Given the description of an element on the screen output the (x, y) to click on. 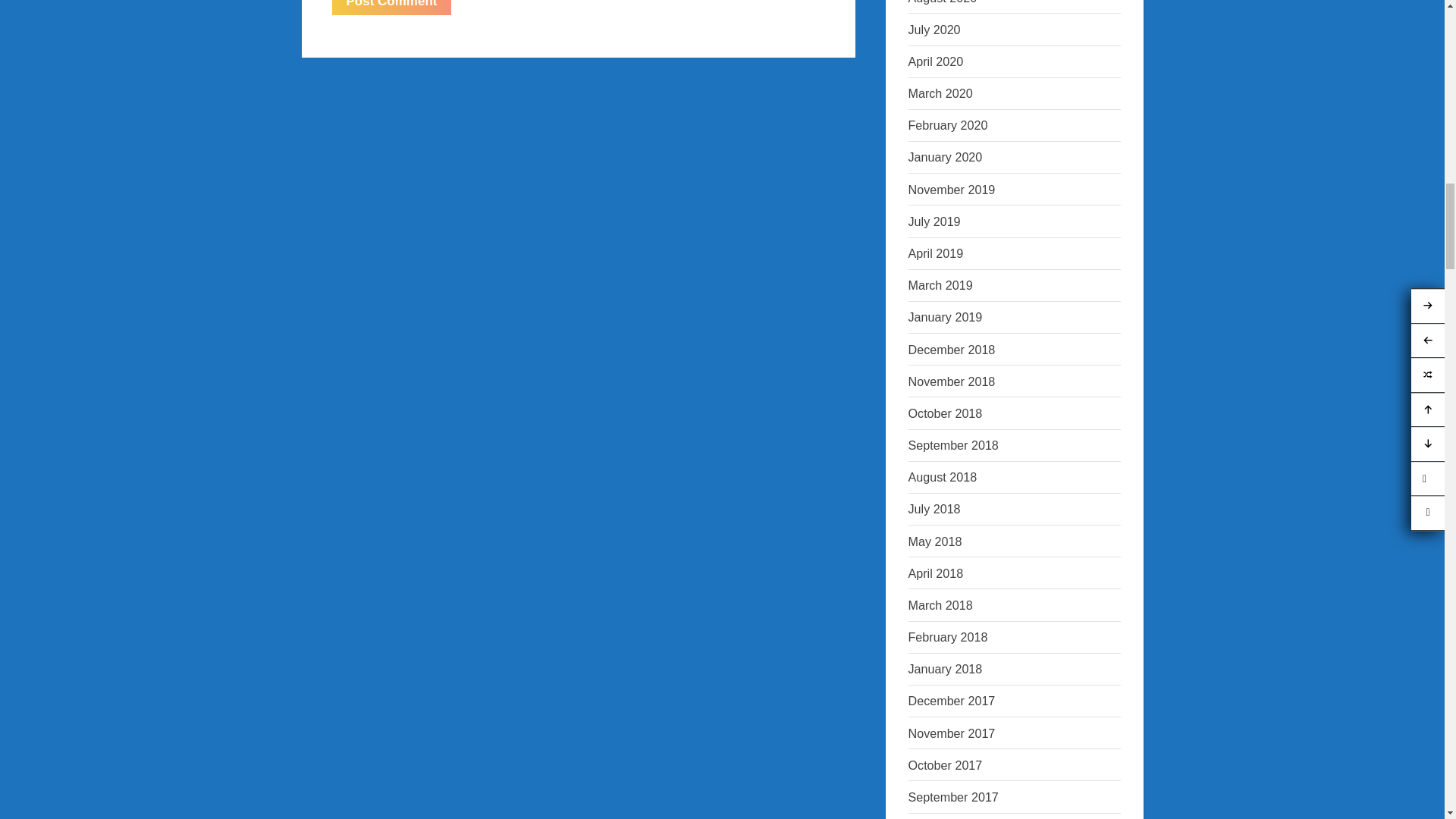
Post Comment (391, 7)
Post Comment (391, 7)
